Given the description of an element on the screen output the (x, y) to click on. 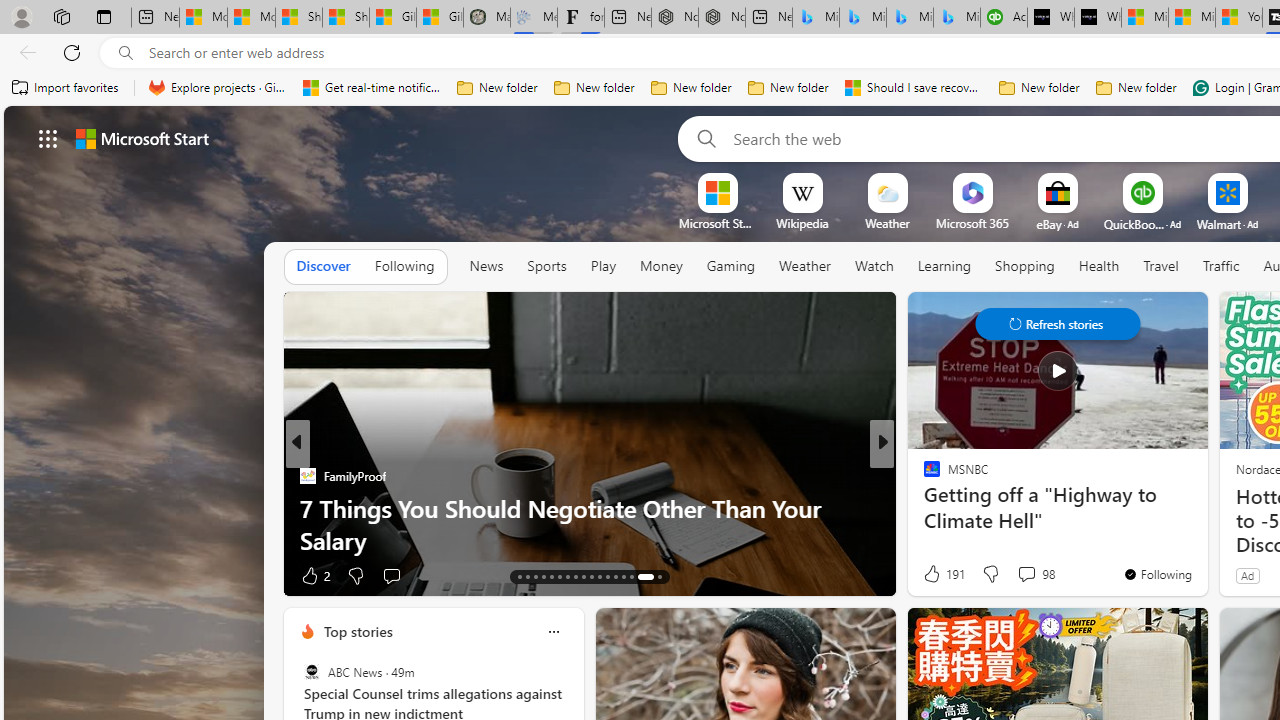
Class: icon-img (553, 632)
Weather (804, 267)
AutomationID: tab-26 (623, 576)
Play (603, 267)
AutomationID: tab-23 (599, 576)
View comments 98 Comment (1026, 573)
Gilma and Hector both pose tropical trouble for Hawaii (440, 17)
Money (660, 265)
Microsoft 365 (971, 223)
Travel (1160, 267)
